Given the description of an element on the screen output the (x, y) to click on. 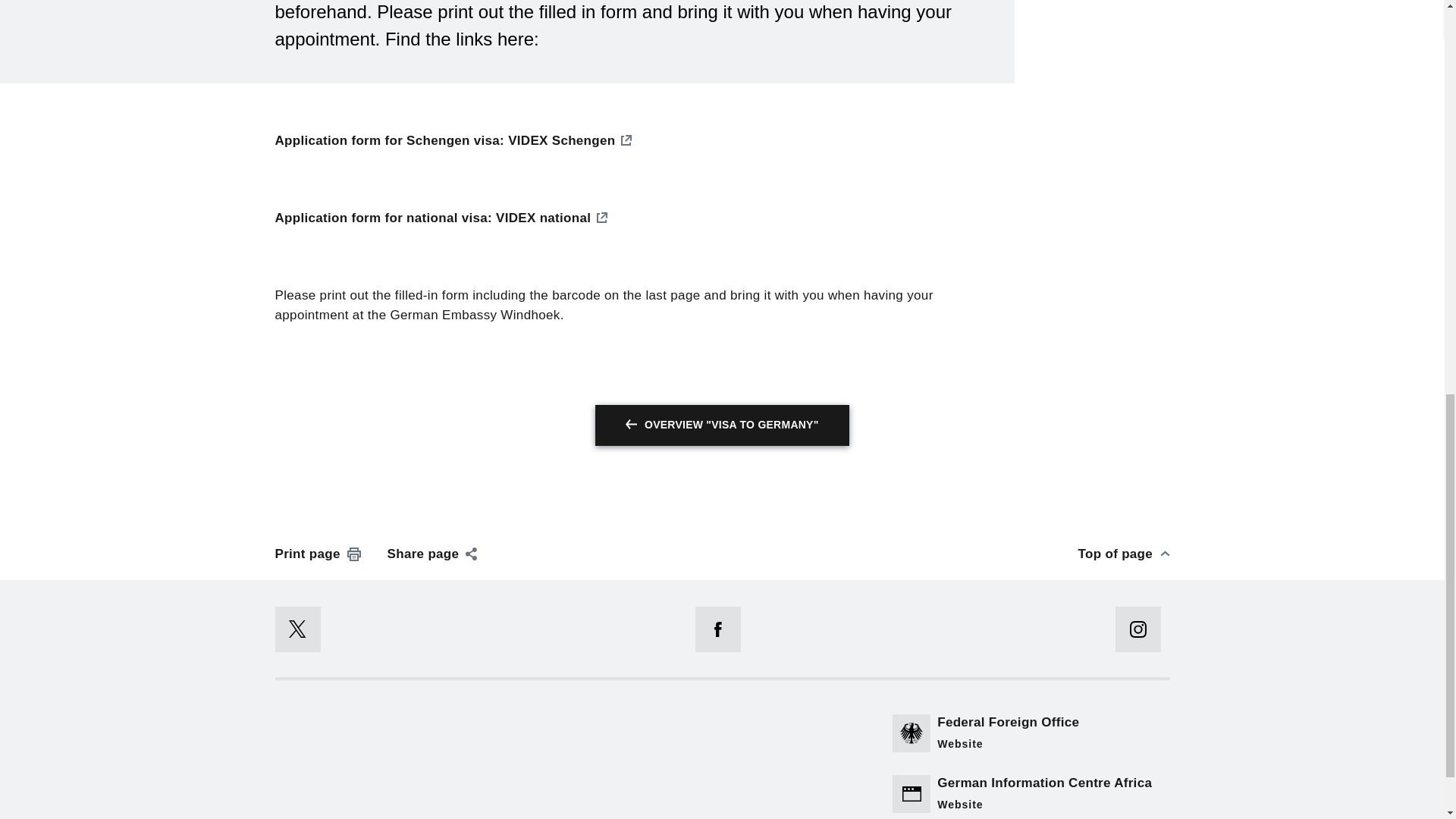
Print page (318, 554)
Overview Visa to Germany (721, 424)
Top of page (1124, 554)
